Given the description of an element on the screen output the (x, y) to click on. 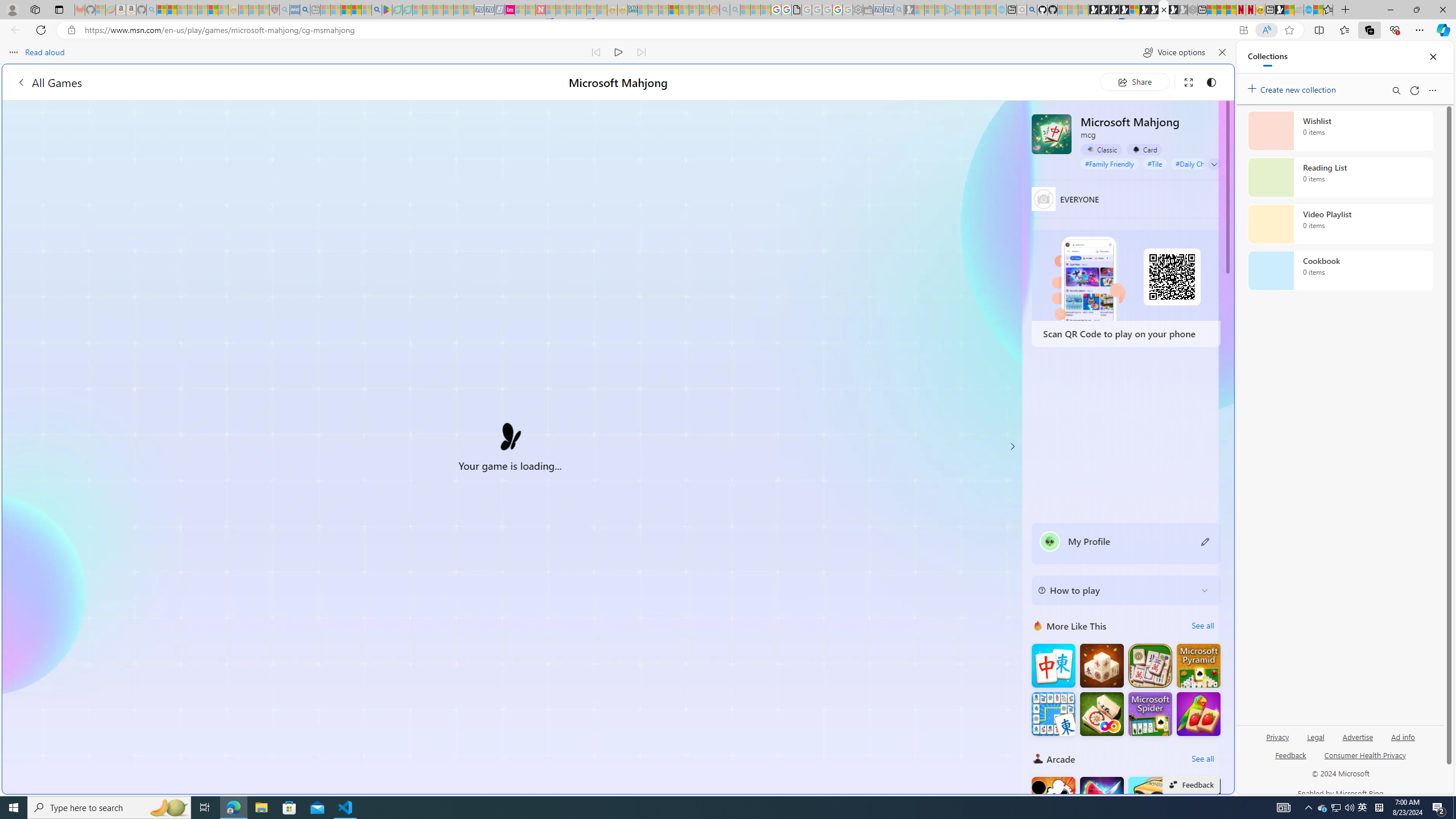
Consumer Health Privacy (1364, 759)
Play Cave FRVR in your browser | Games from Microsoft Start (1113, 9)
Cookbook collection, 0 items (1339, 270)
#Family Friendly (1109, 163)
Read previous paragraph (596, 52)
New tab (727, 683)
Settings and more (Alt+F) (1419, 29)
MSN (1118, 536)
Collections (1267, 56)
Class: image (510, 433)
Microsoft Start (346, 9)
